Given the description of an element on the screen output the (x, y) to click on. 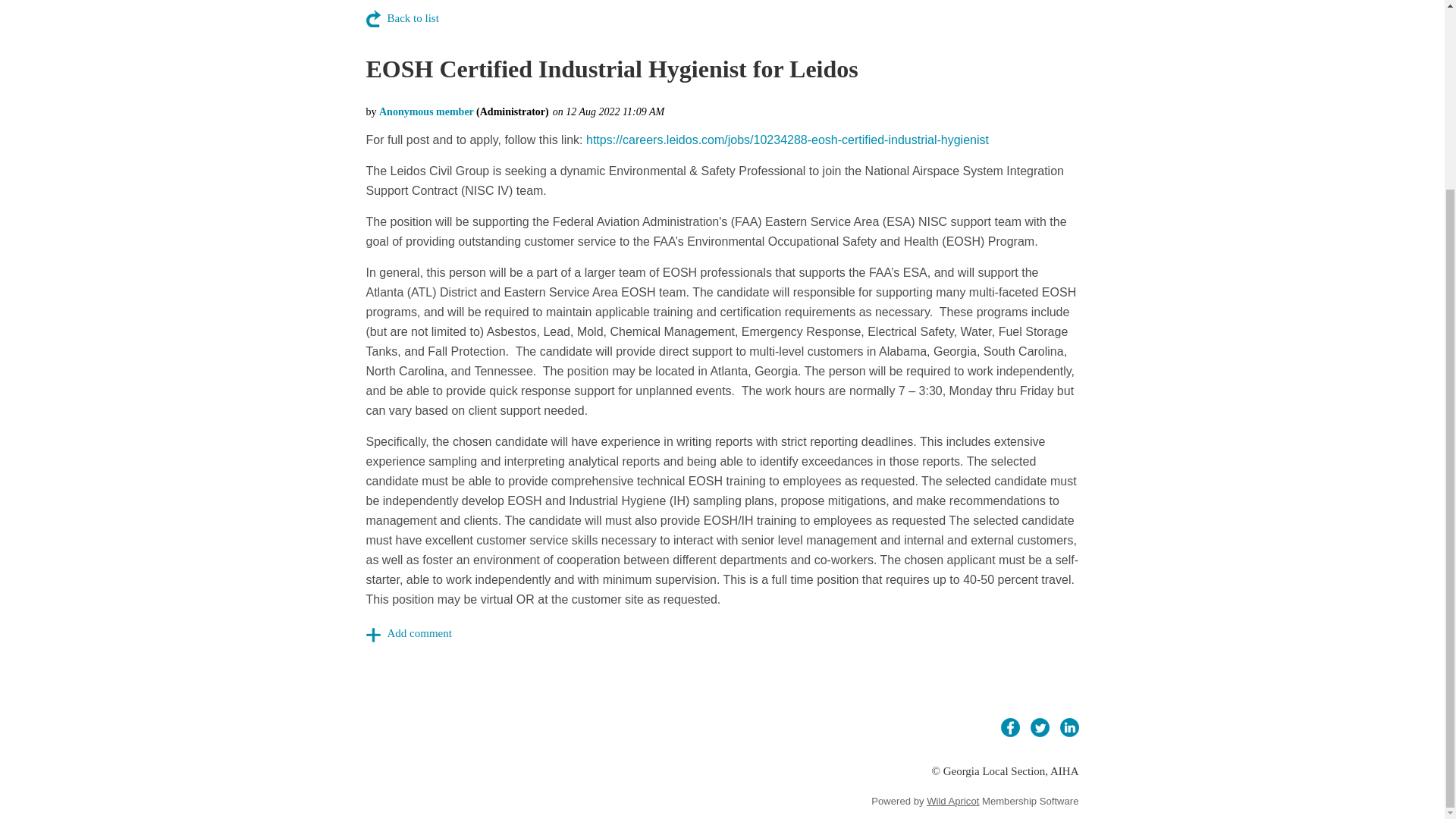
Anonymous member (426, 111)
Add comment (408, 634)
Wild Apricot (952, 800)
Back to list (401, 18)
